Given the description of an element on the screen output the (x, y) to click on. 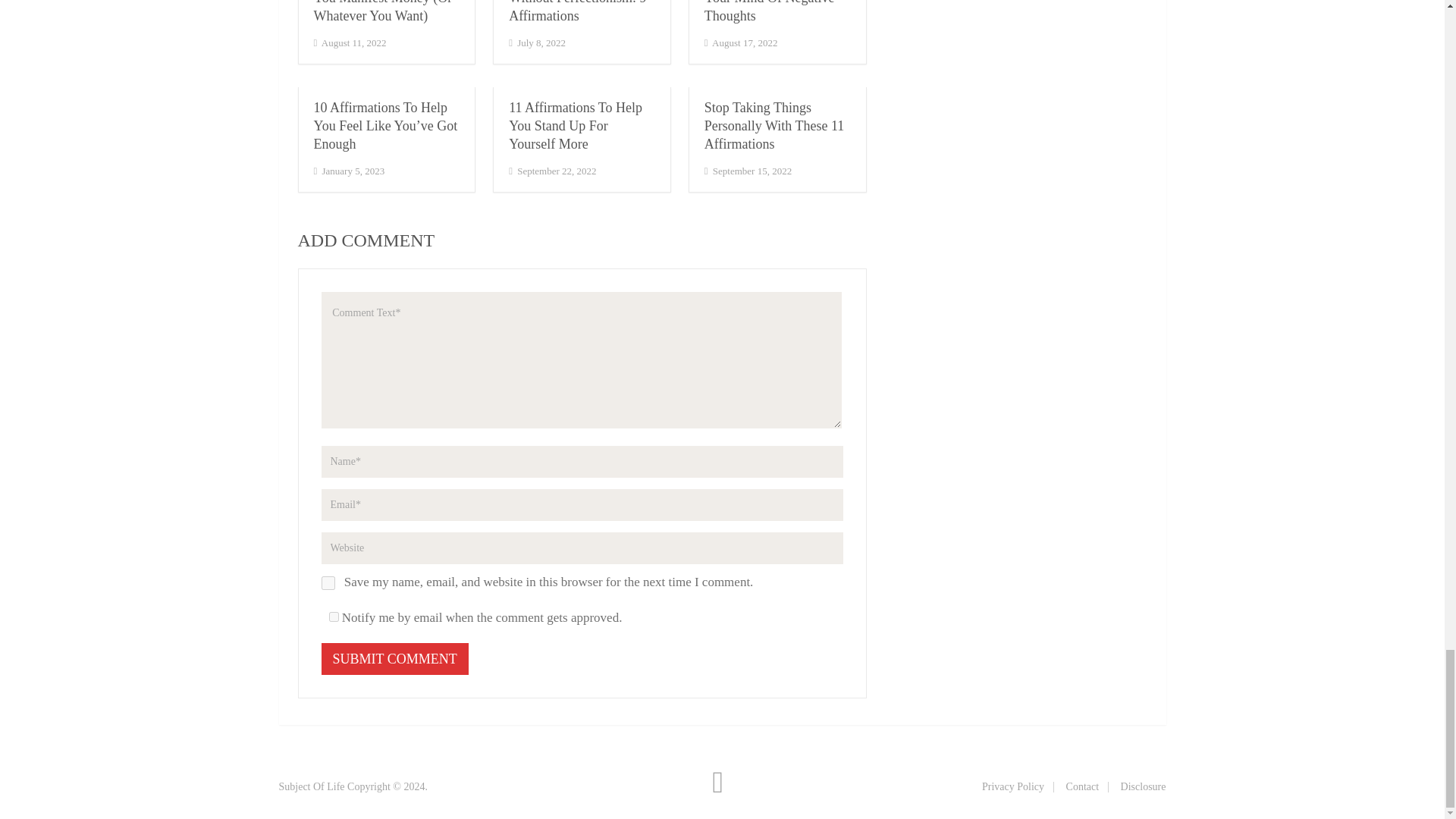
12 Affirmations To Clear Your Mind  Of Negative Thoughts (772, 11)
Submit Comment (394, 658)
11 Affirmations To Help You Stand Up For Yourself More (575, 125)
Stop Taking Things Personally With These 11 Affirmations (774, 125)
Create Your Best Life Without Perfectionism: 9 Affirmations (577, 11)
1 (334, 616)
yes (327, 582)
Subject Of Life (312, 786)
Contact (1082, 786)
12 Affirmations To Clear Your Mind Of Negative Thoughts (772, 11)
